Given the description of an element on the screen output the (x, y) to click on. 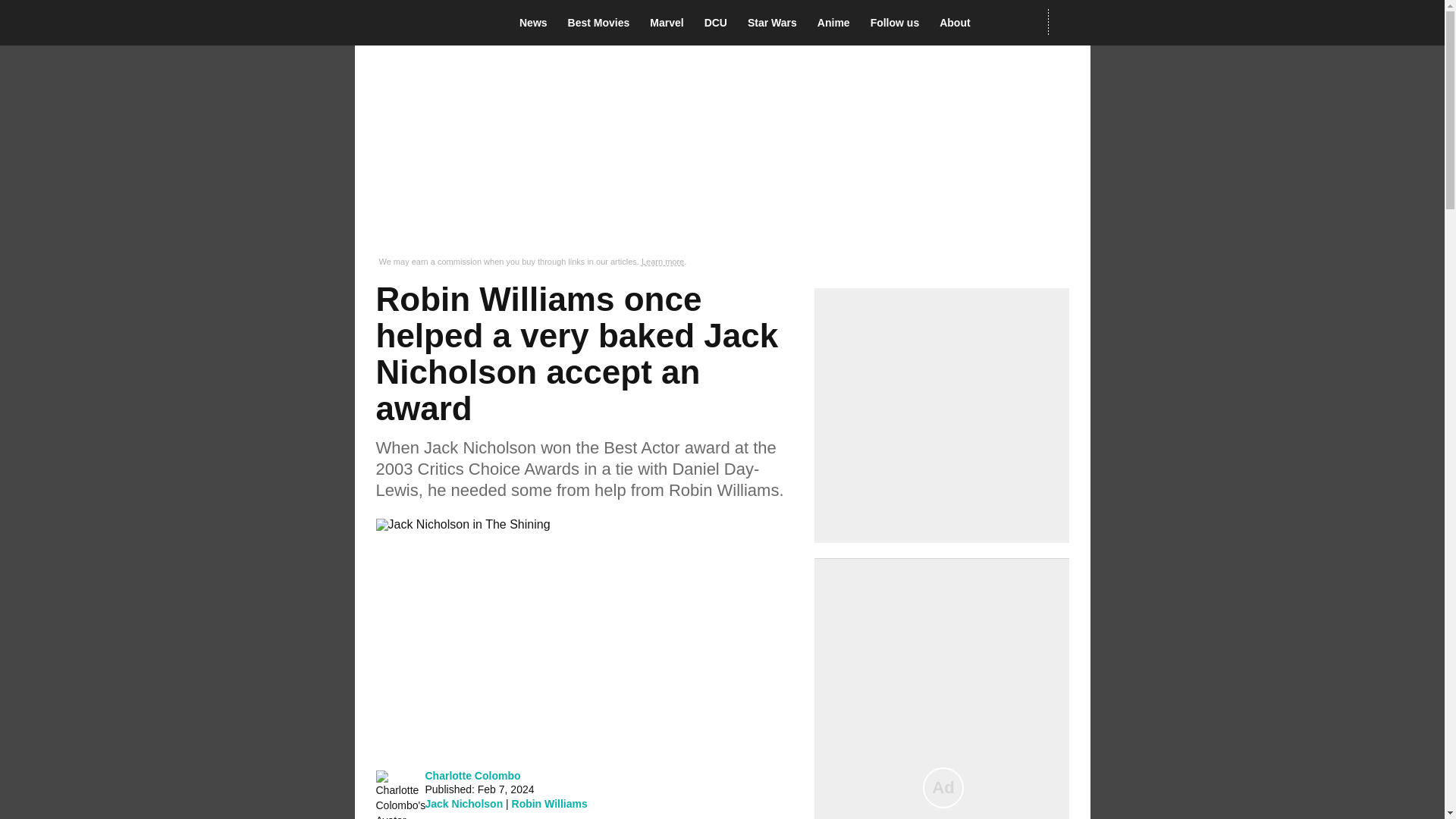
Learn more (663, 261)
Charlotte Colombo (472, 775)
Star Wars News (777, 22)
Star Wars (777, 22)
The Digital Fix (424, 22)
Marvel Cinematic Universe News (671, 22)
Marvel (671, 22)
Robin Williams (550, 803)
Best Movies (603, 22)
Anime News (837, 22)
